Given the description of an element on the screen output the (x, y) to click on. 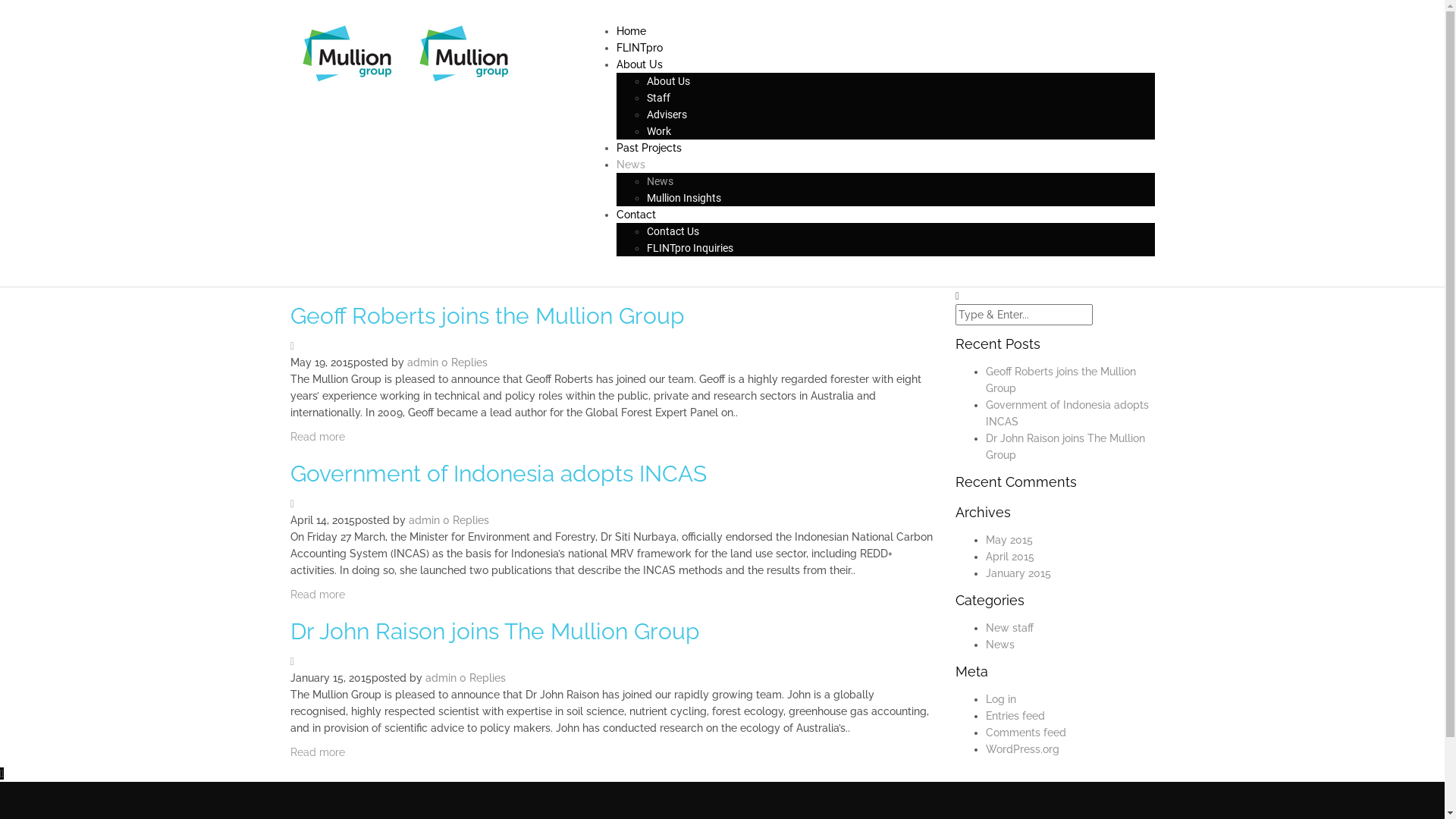
News Element type: text (659, 181)
News Element type: text (629, 164)
About Us Element type: text (638, 64)
Read more Element type: text (316, 752)
Government of Indonesia adopts INCAS Element type: text (497, 473)
Contact Element type: text (635, 214)
Past Projects Element type: text (647, 147)
News Element type: text (999, 644)
admin Element type: text (439, 677)
FLINTpro Element type: text (638, 47)
January 2015 Element type: text (1018, 573)
Geoff Roberts joins the Mullion Group Element type: text (1060, 379)
Advisers Element type: text (666, 114)
Entries feed Element type: text (1014, 715)
0 Replies Element type: text (465, 520)
admin Element type: text (421, 362)
Comments feed Element type: text (1025, 732)
Mullion Insights Element type: text (683, 197)
Geoff Roberts joins the Mullion Group Element type: text (486, 315)
0 Replies Element type: text (482, 677)
Contact Us Element type: text (672, 231)
Home Element type: text (630, 31)
FLINTpro Inquiries Element type: text (689, 247)
The Mullion Group Element type: hover (346, 50)
Log in Element type: text (1000, 699)
Dr John Raison joins The Mullion Group Element type: text (494, 631)
Staff Element type: text (657, 97)
Read more Element type: text (316, 436)
April 2015 Element type: text (1009, 556)
WordPress.org Element type: text (1022, 749)
Work Element type: text (658, 131)
About Us Element type: text (667, 81)
admin Element type: text (423, 520)
New staff Element type: text (1009, 627)
0 Replies Element type: text (464, 362)
May 2015 Element type: text (1008, 539)
The Mullion Group Element type: hover (463, 50)
Read more Element type: text (316, 594)
Government of Indonesia adopts INCAS Element type: text (1066, 412)
Dr John Raison joins The Mullion Group Element type: text (1065, 446)
